Given the description of an element on the screen output the (x, y) to click on. 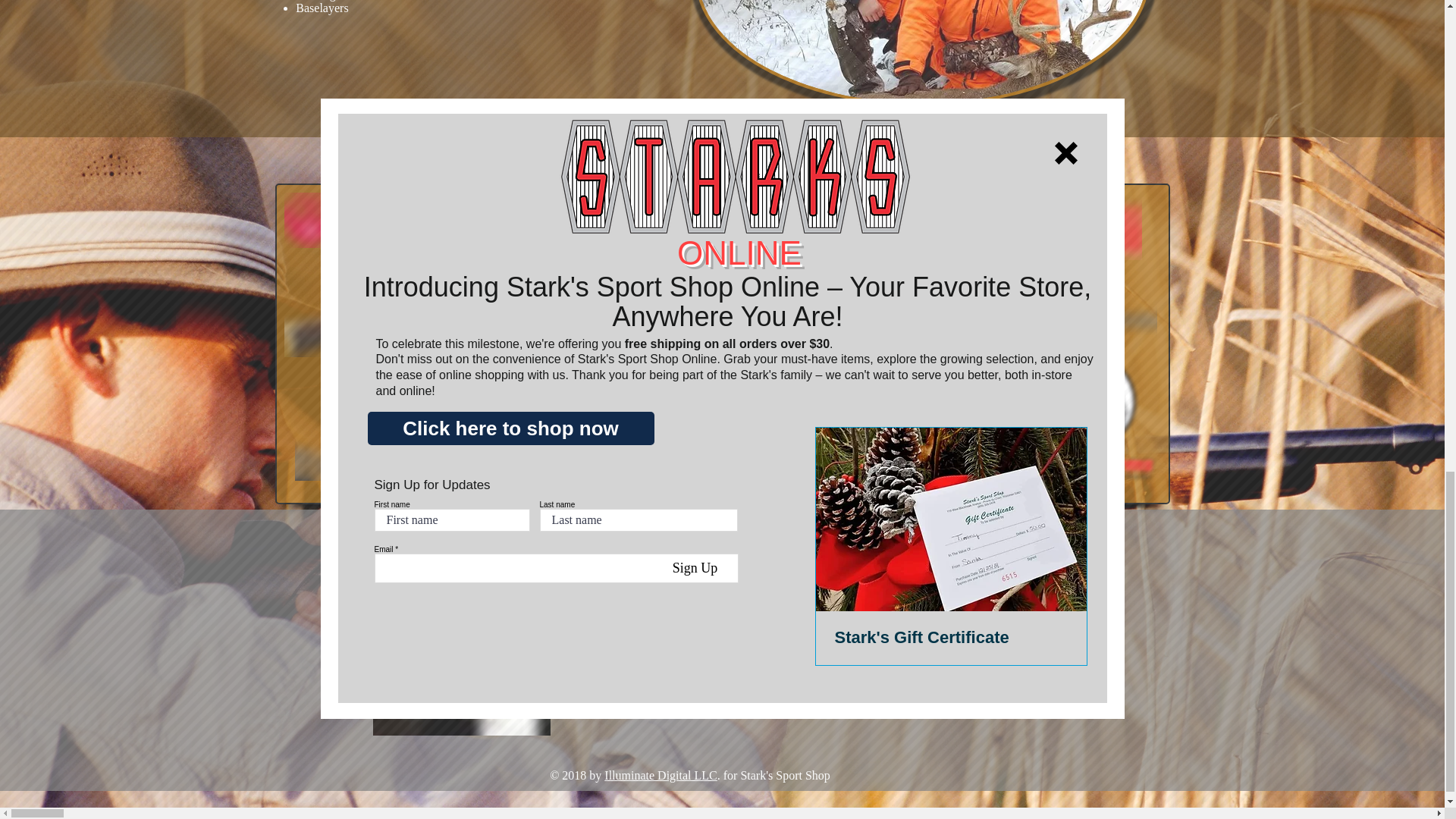
Disclaimer (963, 636)
608-326-2478 (718, 639)
Illuminate Digital LLC (660, 775)
River Levels (964, 611)
